Given the description of an element on the screen output the (x, y) to click on. 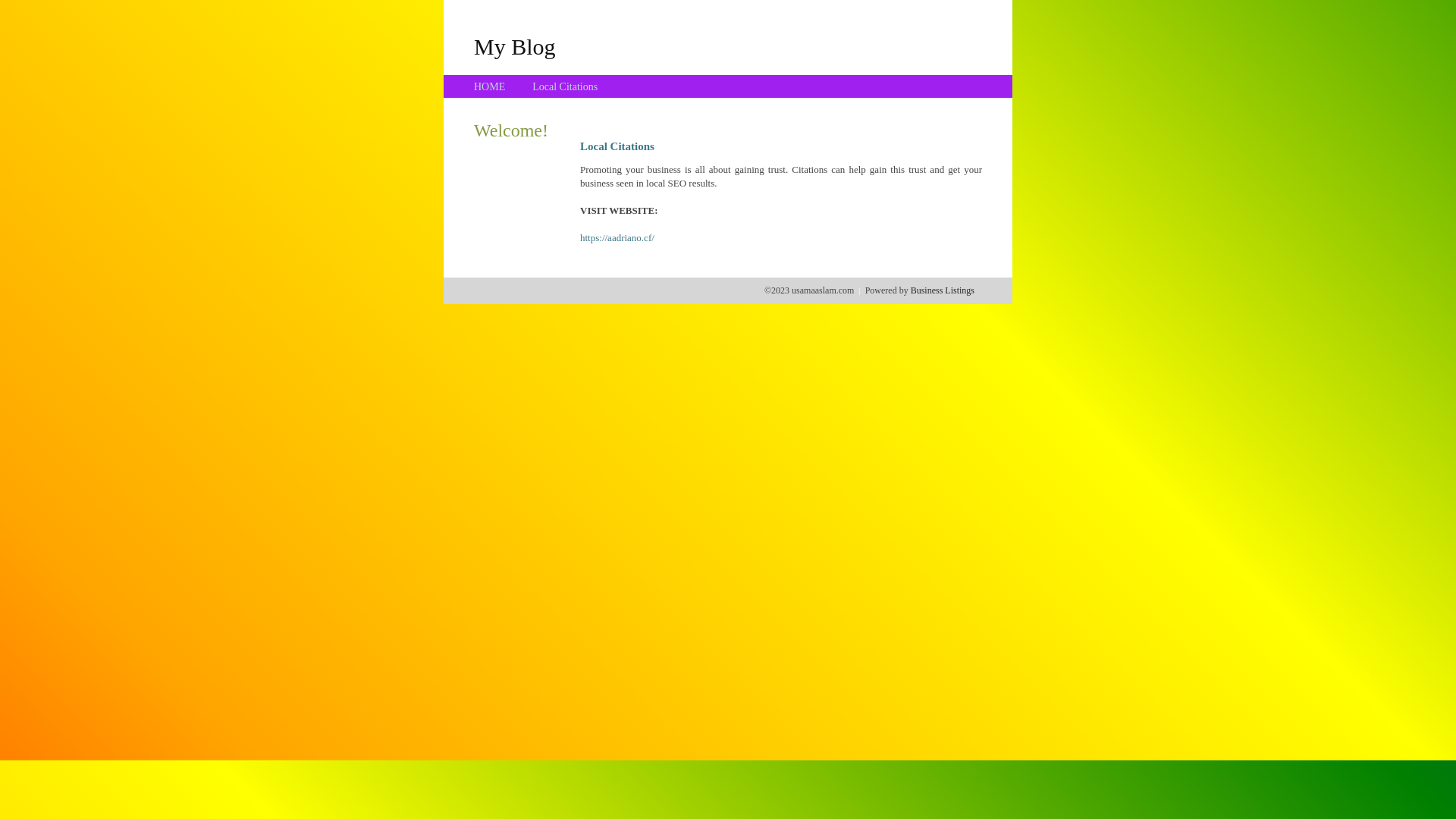
Local Citations Element type: text (564, 86)
Business Listings Element type: text (942, 290)
https://aadriano.cf/ Element type: text (617, 237)
My Blog Element type: text (514, 46)
HOME Element type: text (489, 86)
